Given the description of an element on the screen output the (x, y) to click on. 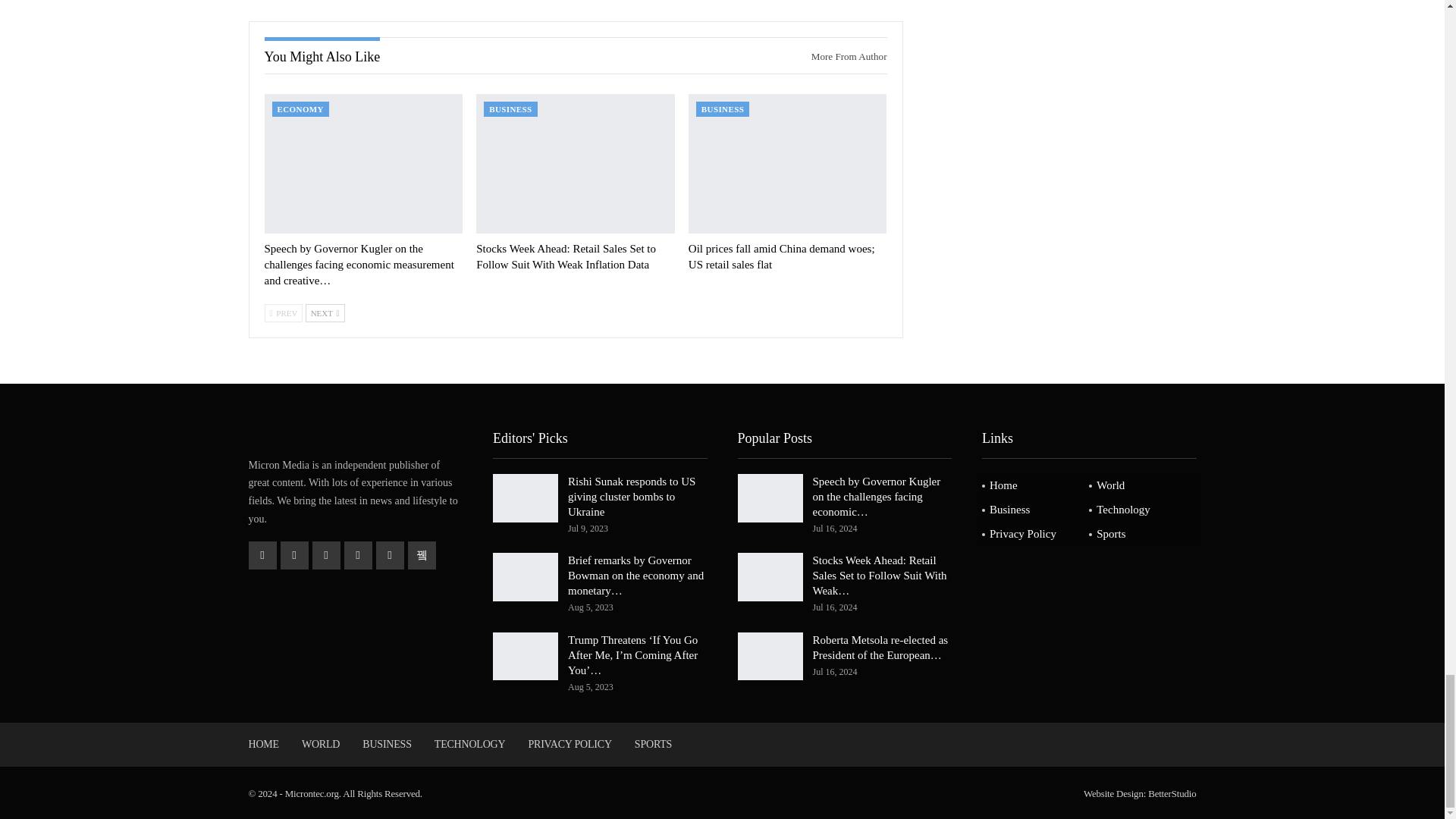
Next (325, 312)
Oil prices fall amid China demand woes; US retail sales flat (781, 256)
Previous (282, 312)
Oil prices fall amid China demand woes; US retail sales flat (787, 163)
